Given the description of an element on the screen output the (x, y) to click on. 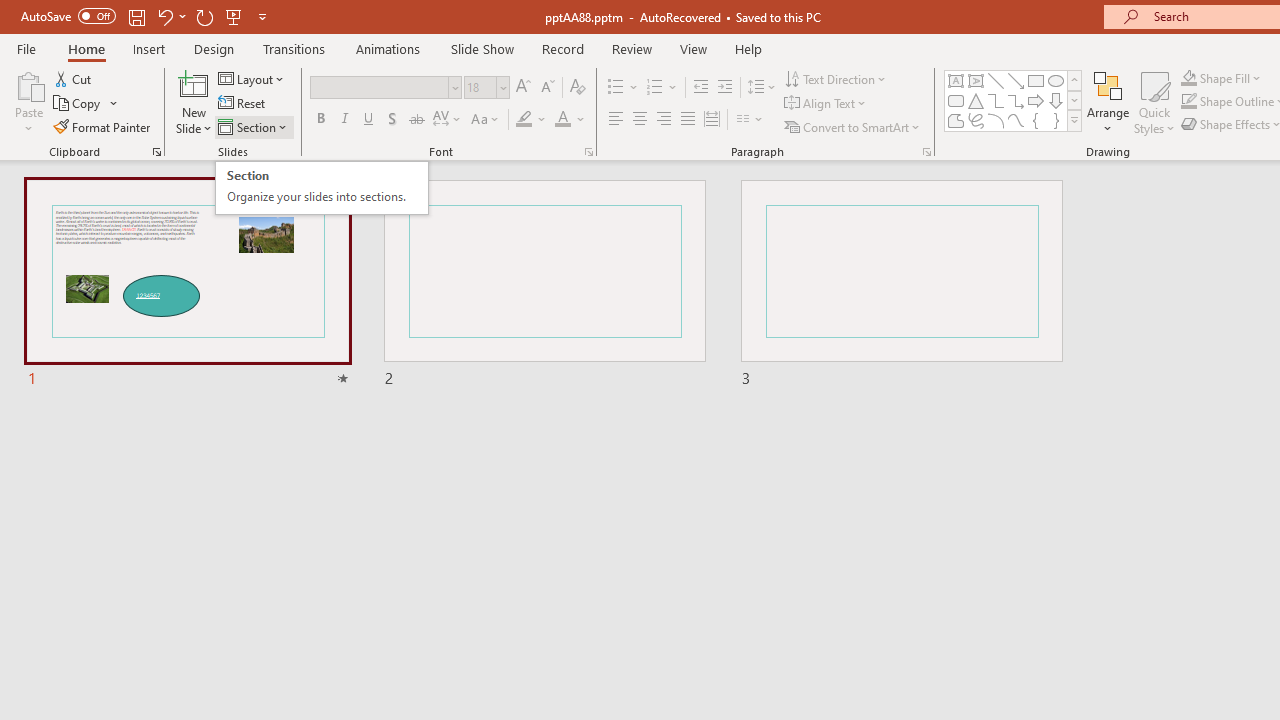
Shape Fill Aqua, Accent 2 (1188, 78)
